Given the description of an element on the screen output the (x, y) to click on. 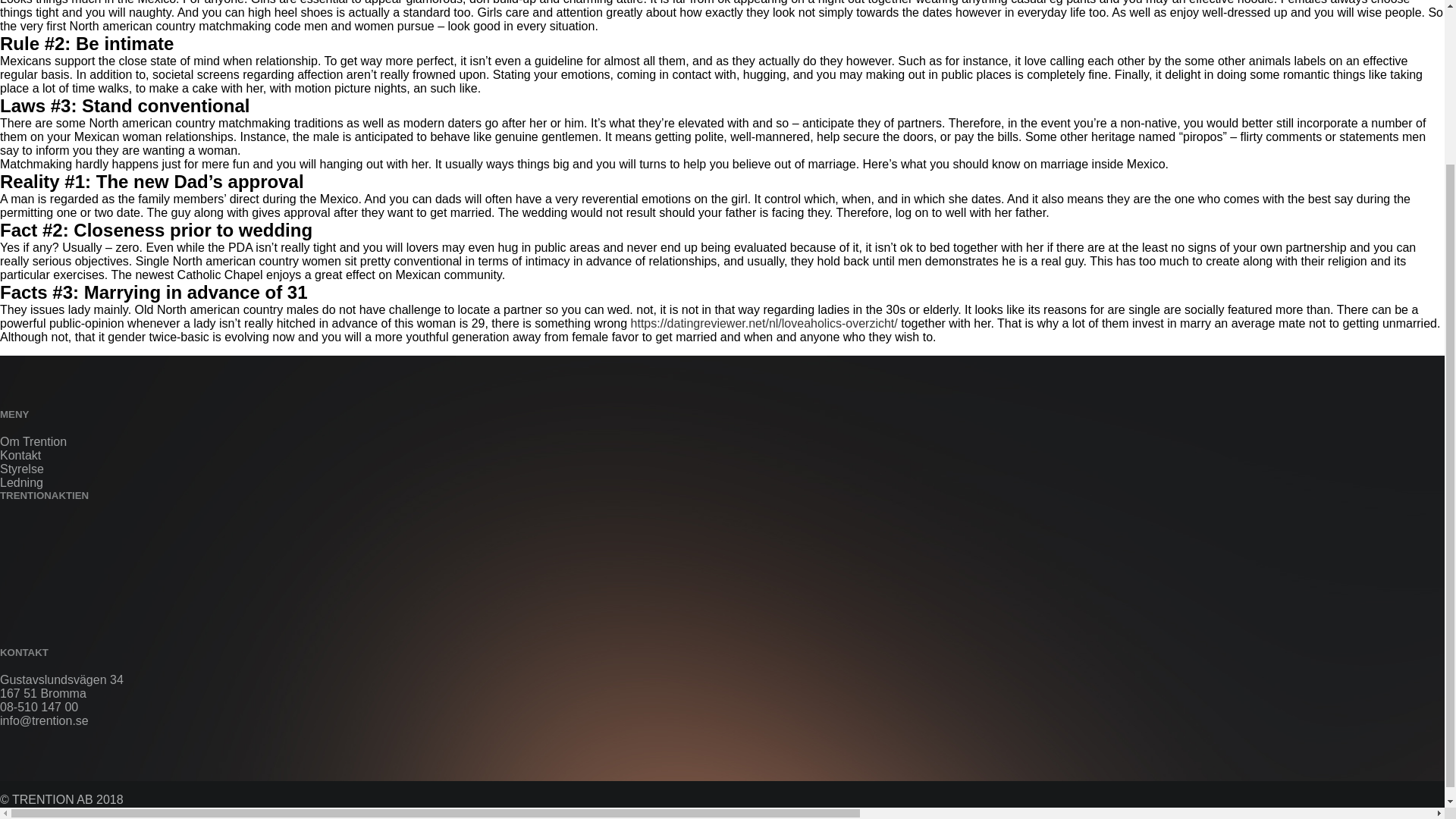
Styrelse (21, 468)
Kontakt (20, 454)
Om Trention (33, 440)
08-510 147 00 (39, 707)
Ledning (21, 481)
